Given the description of an element on the screen output the (x, y) to click on. 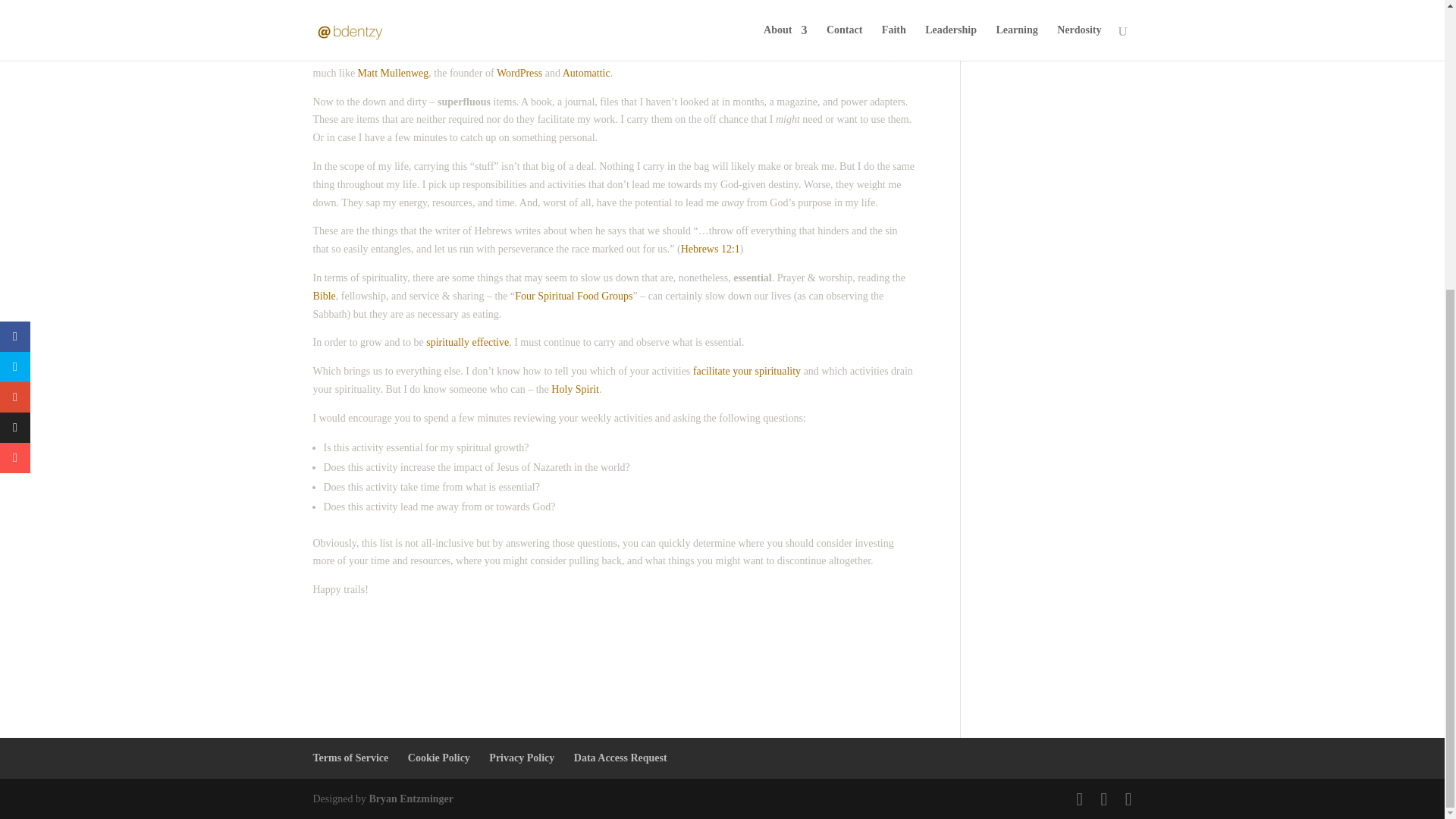
open office environment (440, 18)
Cookie Policy (438, 757)
WordPress (518, 72)
degrade my ability to concentrate (614, 36)
Automattic (586, 72)
Terms of Service (350, 757)
Privacy Policy (521, 757)
facilitate your spirituality (746, 370)
spiritually effective (467, 342)
Holy Spirit (574, 389)
Four Spiritual Food Groups (573, 296)
Bible (323, 296)
Matt Mullenweg (393, 72)
Holy Spirit (574, 389)
Hebrews 12:1 (710, 248)
